Given the description of an element on the screen output the (x, y) to click on. 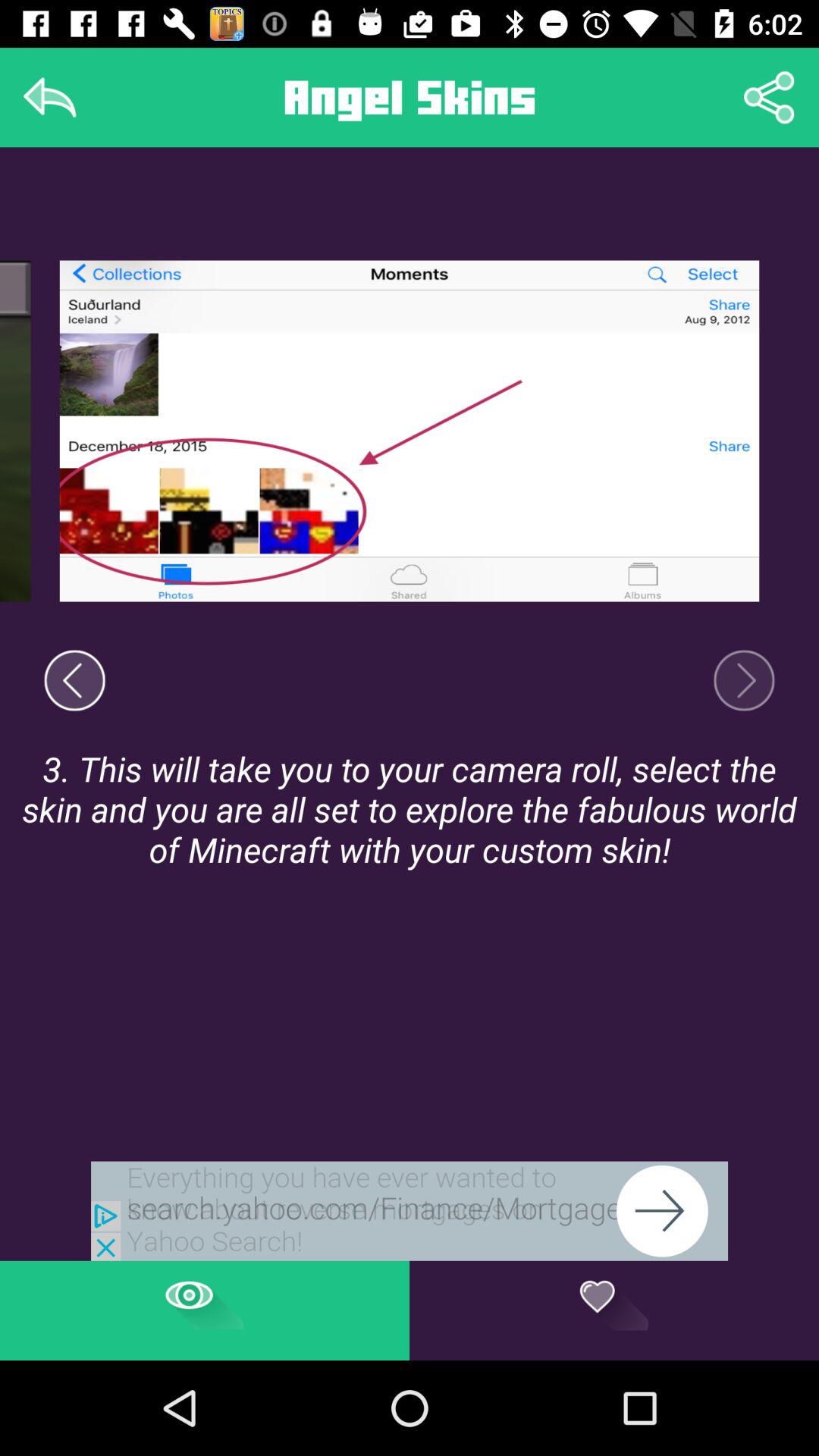
go to viuw botton (204, 1310)
